Given the description of an element on the screen output the (x, y) to click on. 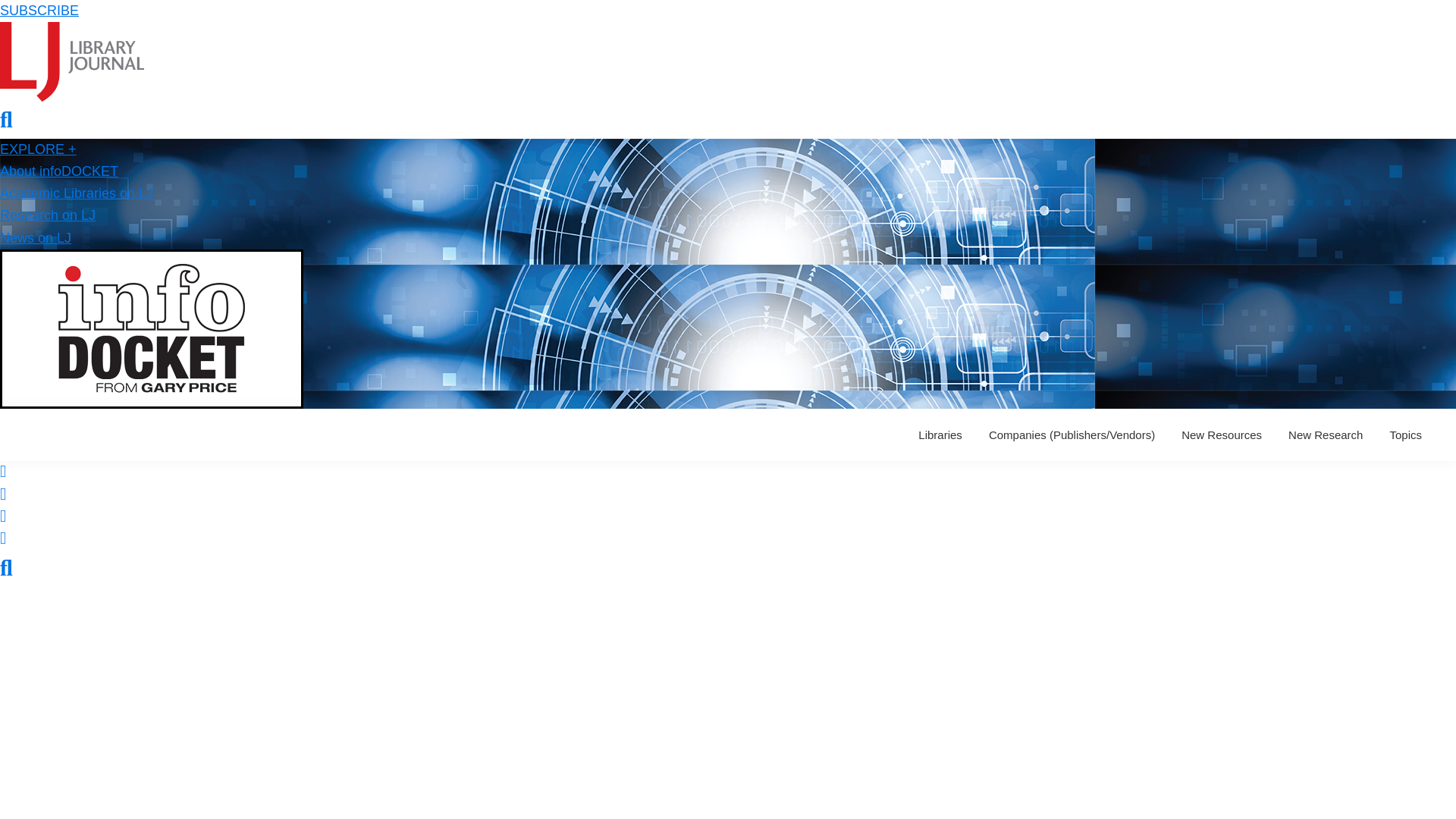
Research on LJ (48, 215)
Libraries (940, 434)
New Research (1325, 434)
New Resources (1221, 434)
SUBSCRIBE (39, 10)
About infoDOCKET (58, 171)
News on LJ (35, 237)
Academic Libraries on LJ (76, 192)
